Given the description of an element on the screen output the (x, y) to click on. 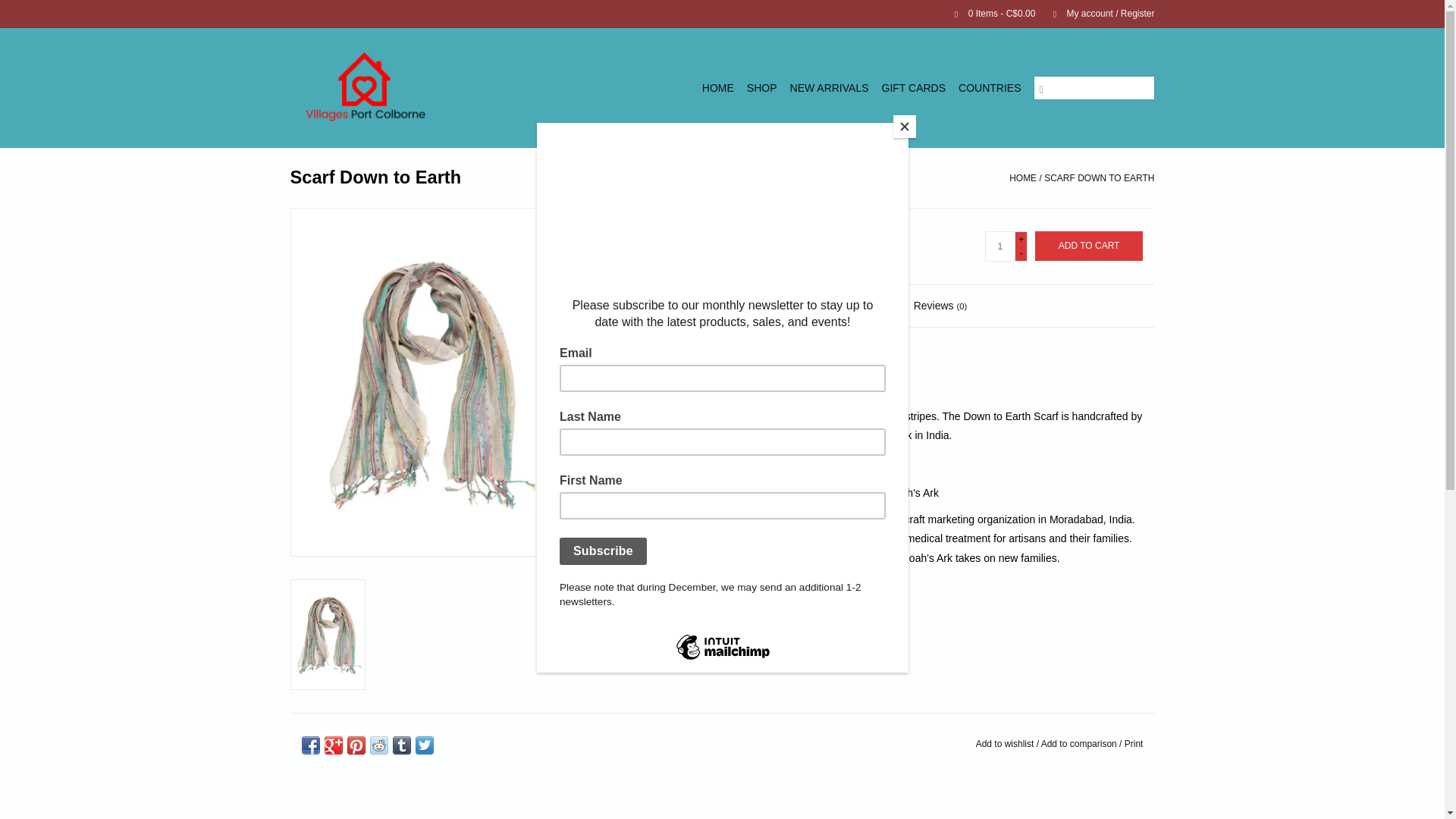
SHOP (761, 87)
My account (1096, 13)
Villages Port Colborne (394, 87)
SHOP (761, 87)
Cart (988, 13)
1 (999, 245)
HOME (717, 87)
